Given the description of an element on the screen output the (x, y) to click on. 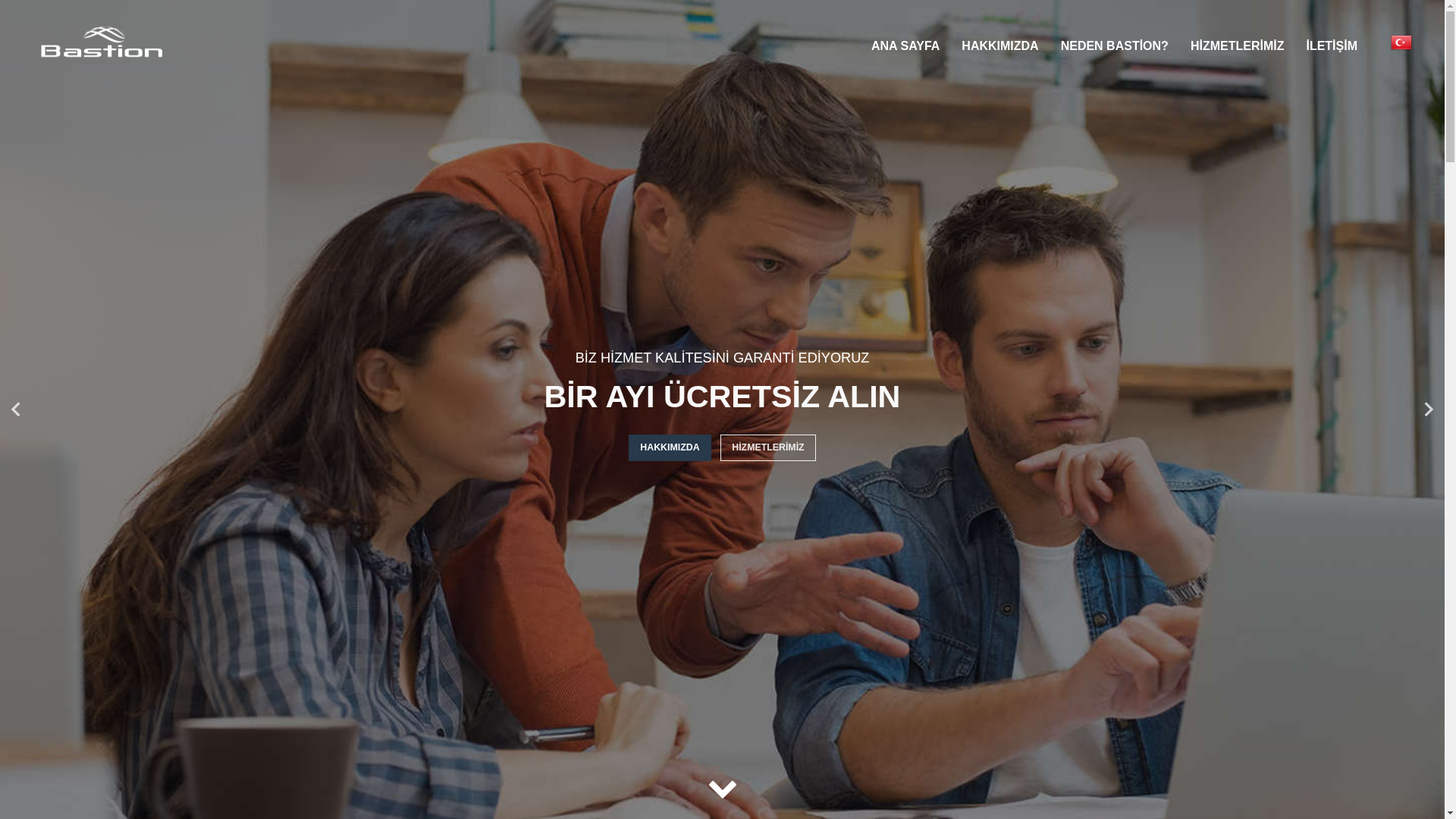
ANA SAYFA Element type: text (905, 45)
HAKKIMIZDA Element type: text (999, 45)
HAKKIMIZDA Element type: text (671, 447)
